Given the description of an element on the screen output the (x, y) to click on. 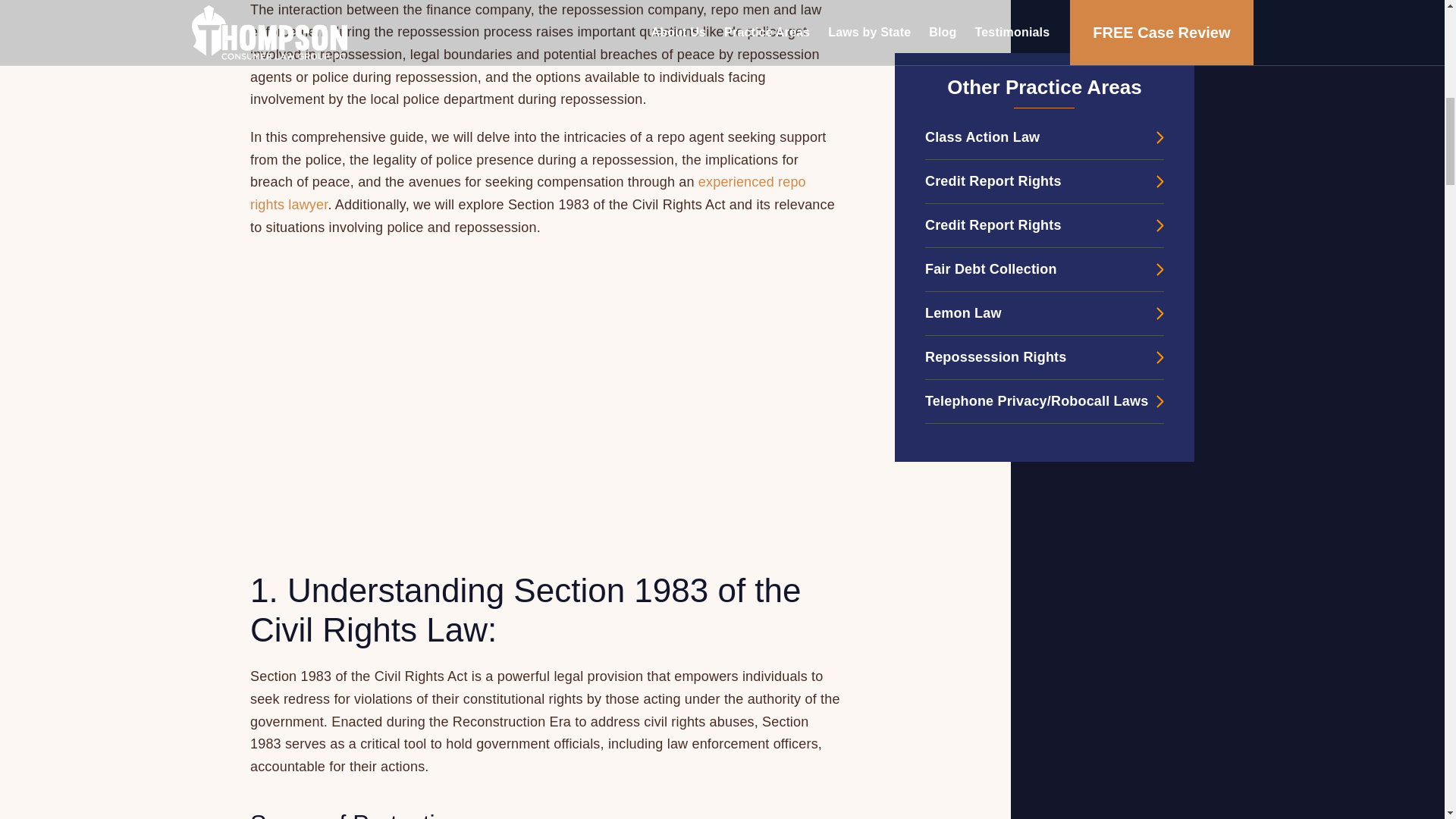
Go To Repossession Rights Page (1043, 98)
Go To Fair Debt Collection Page (1043, 16)
experienced repo rights lawyer (528, 193)
Go To Lemon Law Page (1043, 54)
Lemon Law (1043, 54)
Fair Debt Collection (1043, 16)
